Given the description of an element on the screen output the (x, y) to click on. 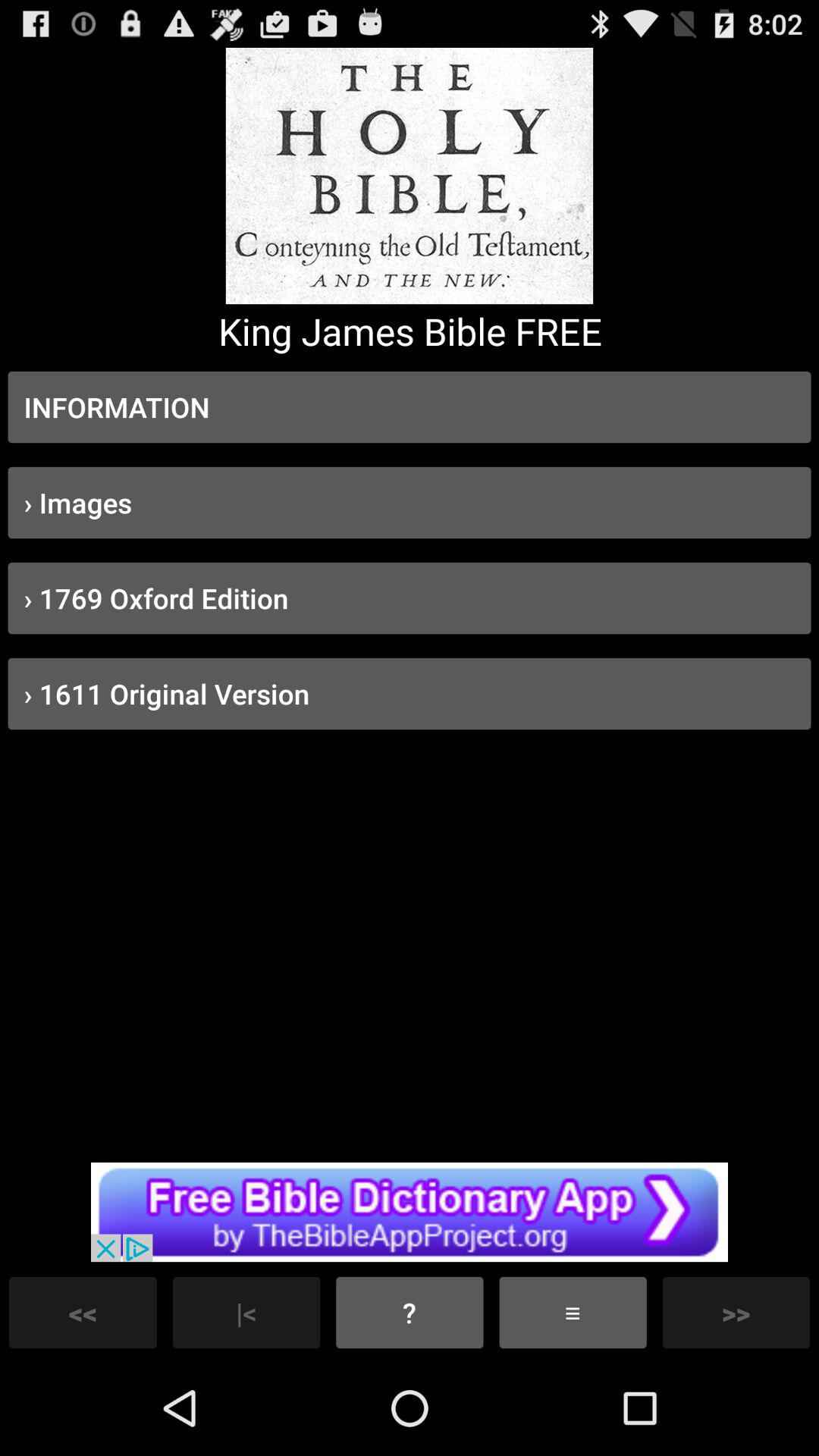
click on the button which is next to  button (572, 1312)
click on the button which is left side of the  button (246, 1312)
